Given the description of an element on the screen output the (x, y) to click on. 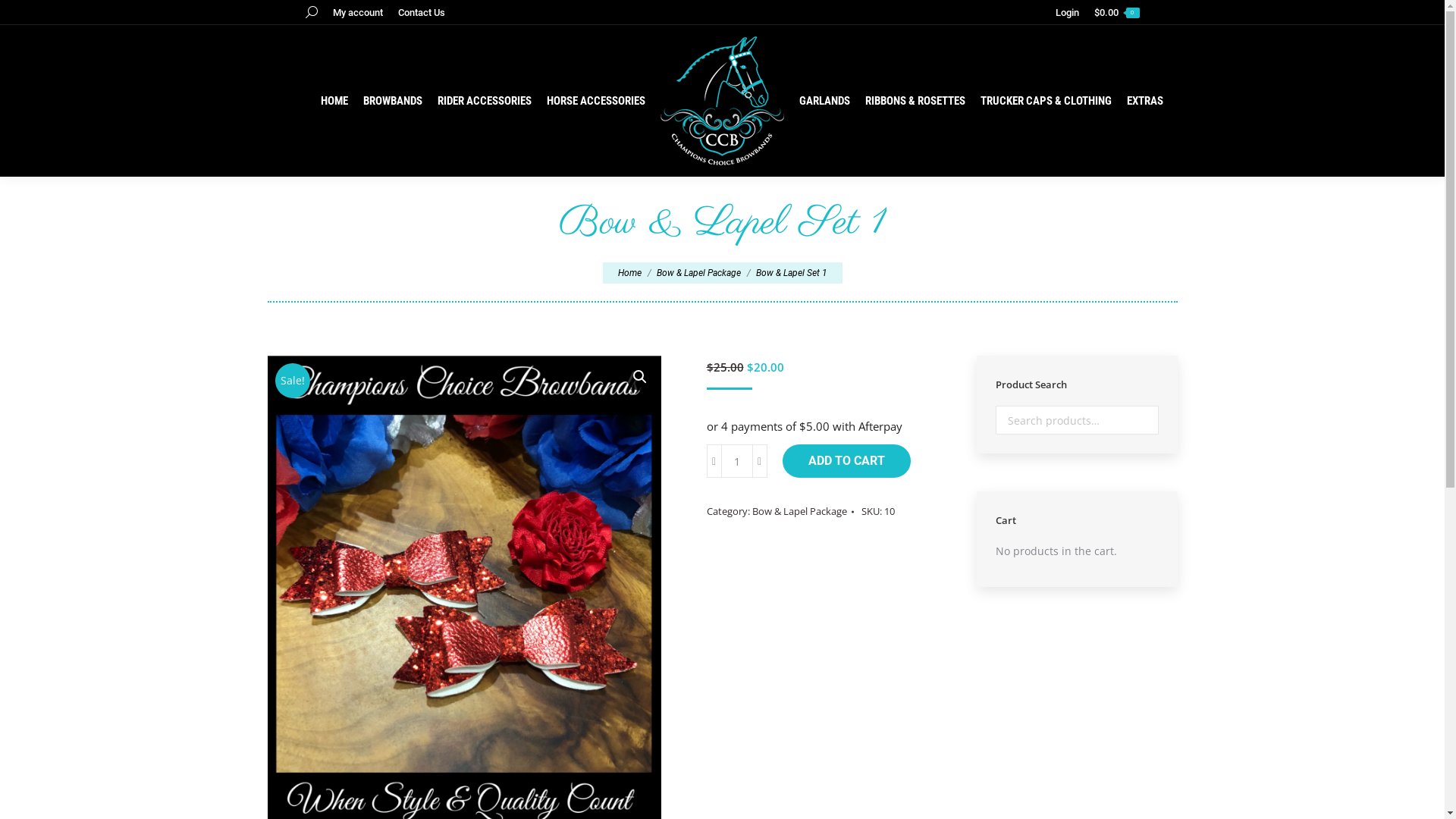
TRUCKER CAPS & CLOTHING Element type: text (1045, 101)
Go! Element type: text (31, 18)
Login Element type: text (1067, 12)
Search Element type: text (1141, 419)
My account Element type: text (357, 12)
HORSE ACCESSORIES Element type: text (595, 101)
Bow & Lapel Package Element type: text (698, 272)
ADD TO CART Element type: text (846, 460)
GARLANDS Element type: text (824, 101)
RIDER ACCESSORIES Element type: text (484, 101)
Contact Us Element type: text (420, 12)
$0.00
0 Element type: text (1116, 12)
EXTRAS Element type: text (1144, 101)
Bow & Lapel Package Element type: text (799, 510)
RIBBONS & ROSETTES Element type: text (914, 101)
BROWBANDS Element type: text (392, 101)
HOME Element type: text (334, 101)
Home Element type: text (628, 272)
